Given the description of an element on the screen output the (x, y) to click on. 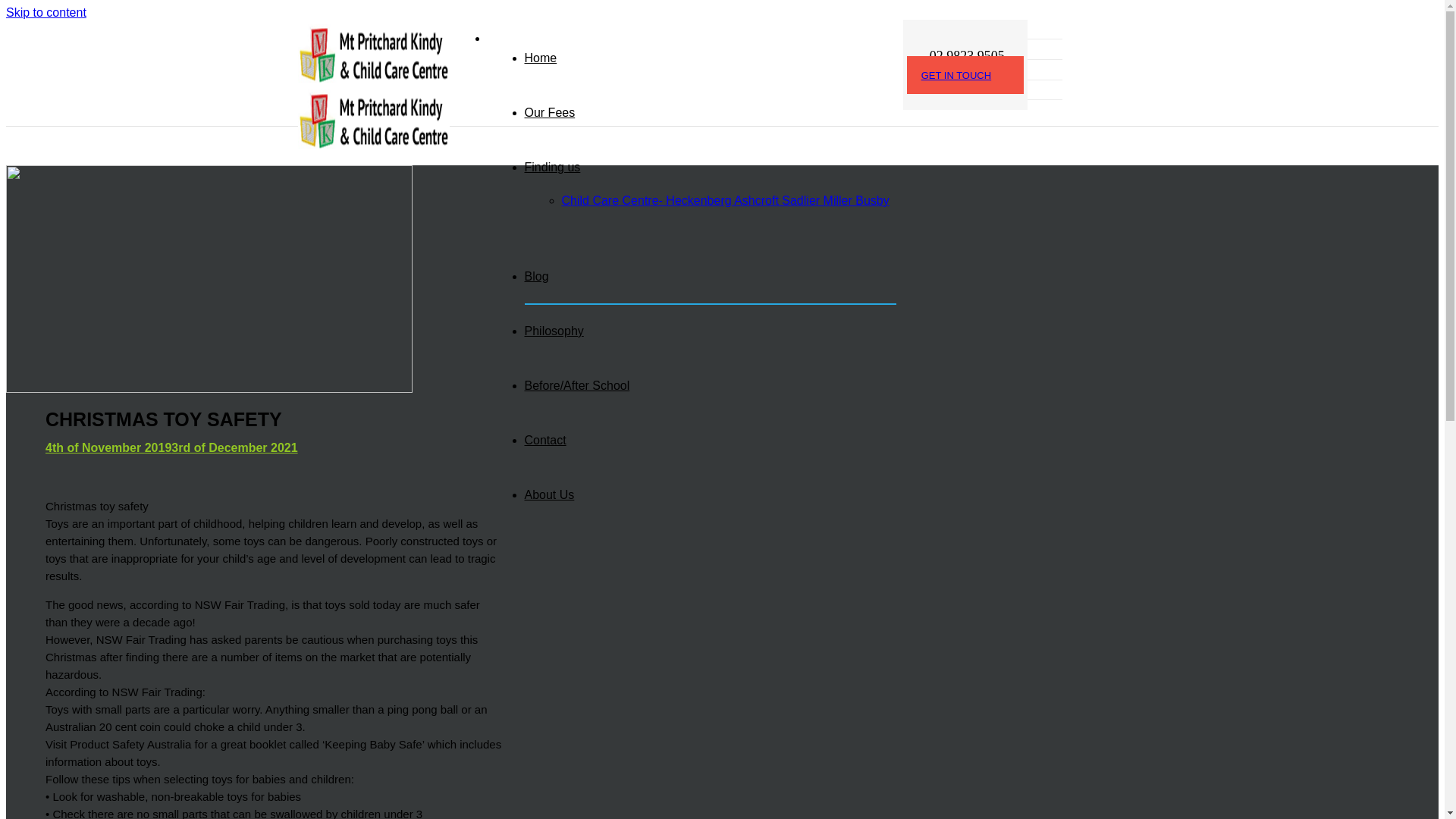
About Us Element type: text (549, 494)
Home Element type: text (540, 57)
Our Fees Element type: text (549, 112)
Skip to content Element type: text (46, 12)
Chinese (Simplified) Element type: hover (1042, 48)
Finding us Element type: text (552, 166)
Contact Element type: text (545, 439)
Blog Element type: text (536, 275)
Philosophy Element type: text (553, 330)
Arabic Element type: hover (1053, 26)
GET IN TOUCH Element type: text (964, 75)
Vietnamese Element type: hover (1053, 107)
Child Care Centre- Heckenberg Ashcroft Sadlier Miller Busby Element type: text (724, 200)
Kindy - Just another WordPress site Element type: hover (372, 111)
4th of November 20193rd of December 2021 Element type: text (274, 448)
Before/After School Element type: text (577, 385)
02 9823 9505 Element type: text (955, 56)
English Element type: hover (1042, 69)
Serbian Element type: hover (1053, 87)
